Given the description of an element on the screen output the (x, y) to click on. 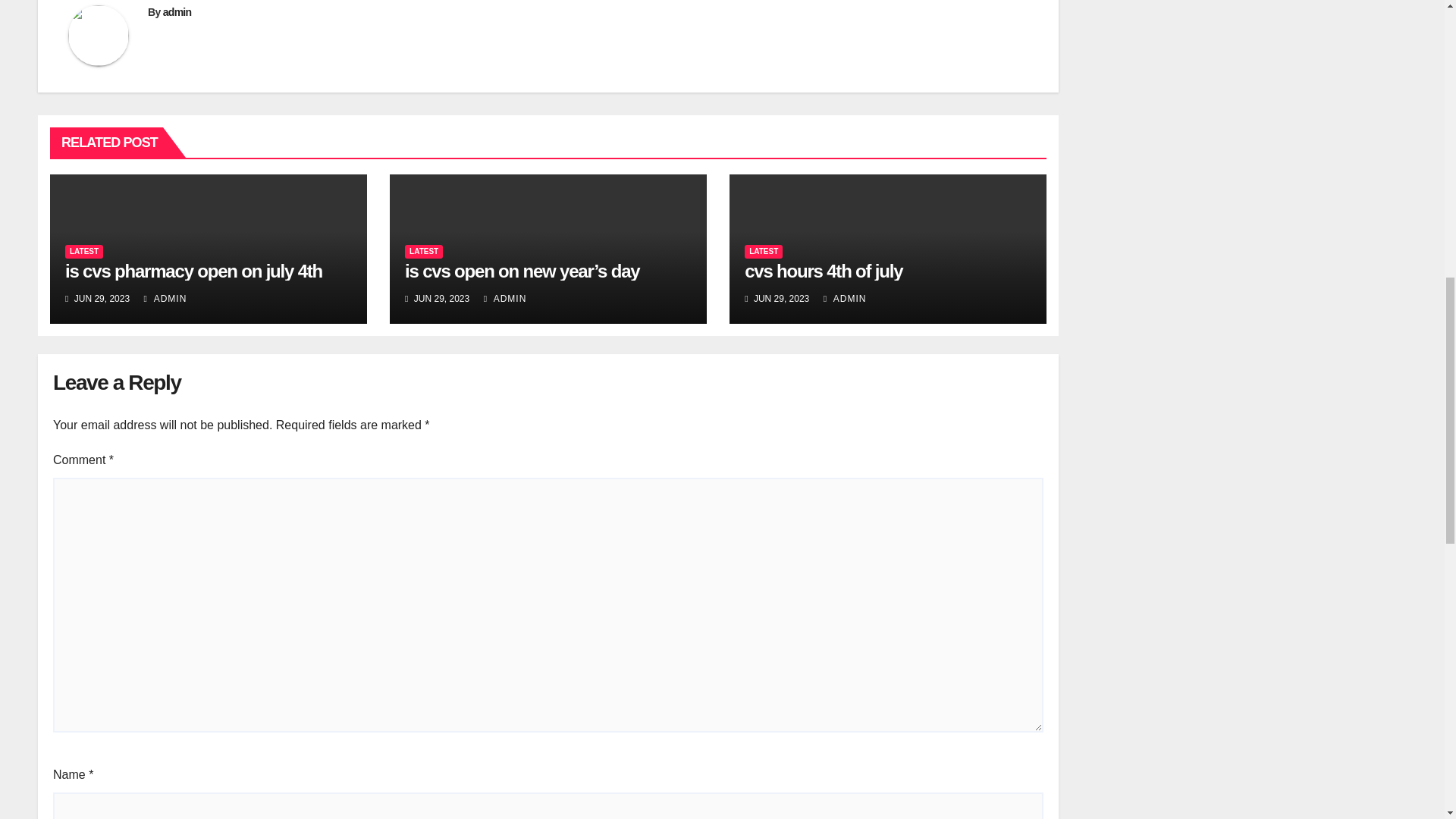
Permalink to: is cvs pharmacy open on july 4th (193, 271)
admin (177, 11)
LATEST (84, 251)
ADMIN (505, 298)
LATEST (423, 251)
ADMIN (165, 298)
cvs hours 4th of july (823, 271)
ADMIN (845, 298)
is cvs pharmacy open on july 4th (193, 271)
Permalink to: cvs hours 4th of july (823, 271)
LATEST (763, 251)
